Given the description of an element on the screen output the (x, y) to click on. 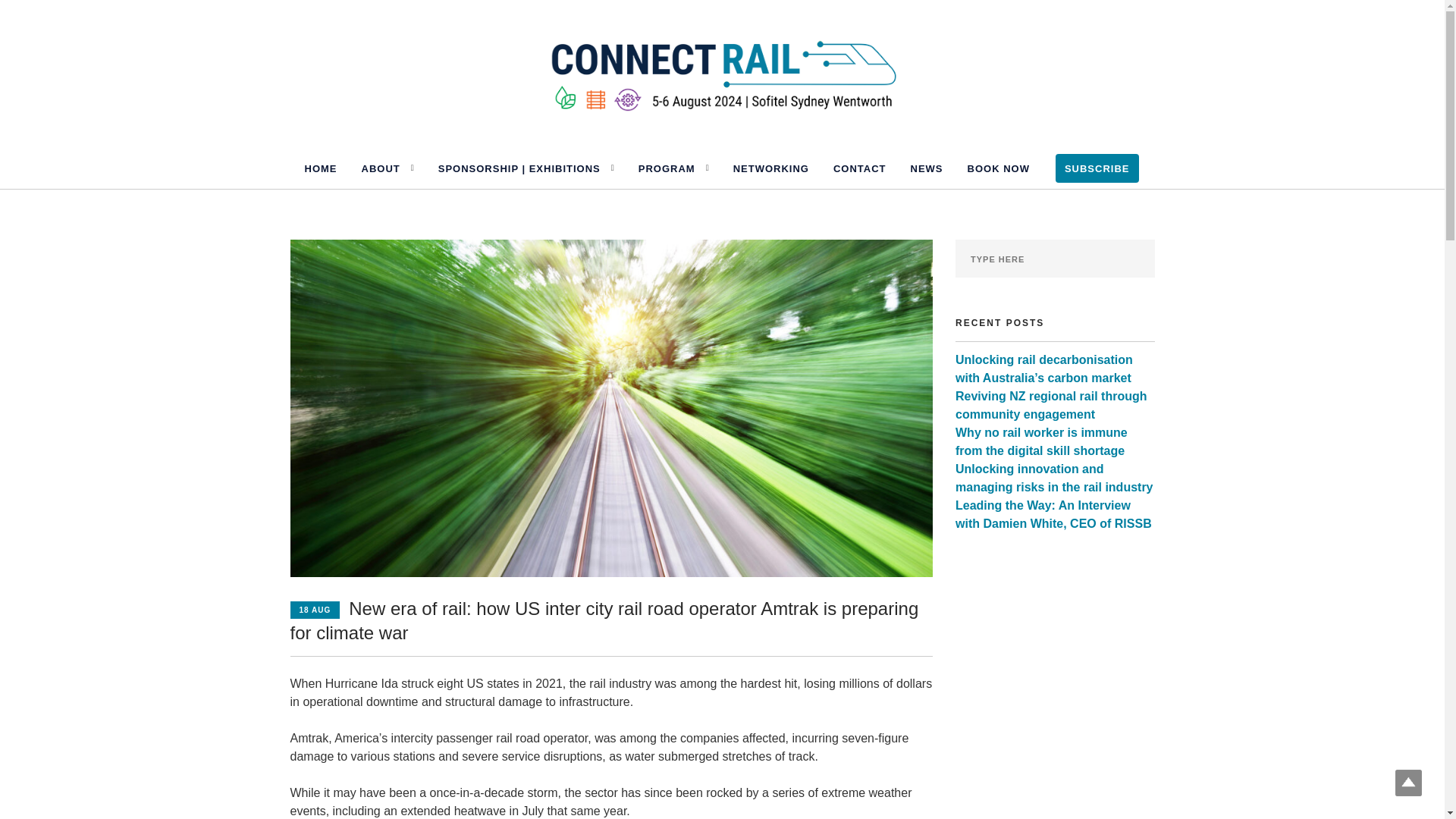
SUBSCRIBE (1097, 168)
NETWORKING (771, 169)
PROGRAM (667, 169)
CONTACT (859, 169)
Reviving NZ regional rail through community engagement (1051, 404)
Scroll to Top (1408, 782)
Unlocking innovation and managing risks in the rail industry (1054, 477)
BOOK NOW (998, 169)
Why no rail worker is immune from the digital skill shortage (1040, 441)
